Given the description of an element on the screen output the (x, y) to click on. 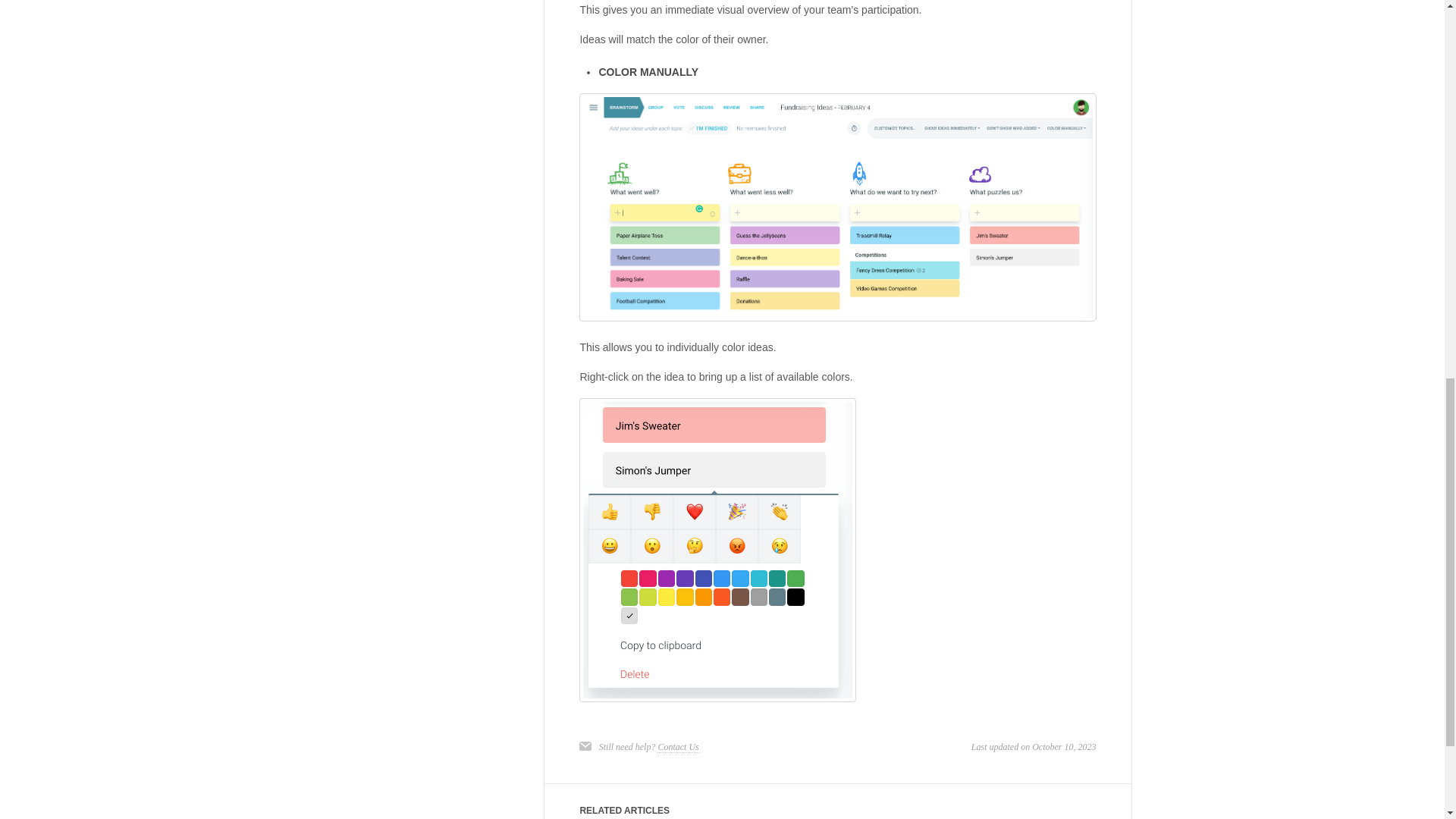
Contact Us (678, 747)
